Given the description of an element on the screen output the (x, y) to click on. 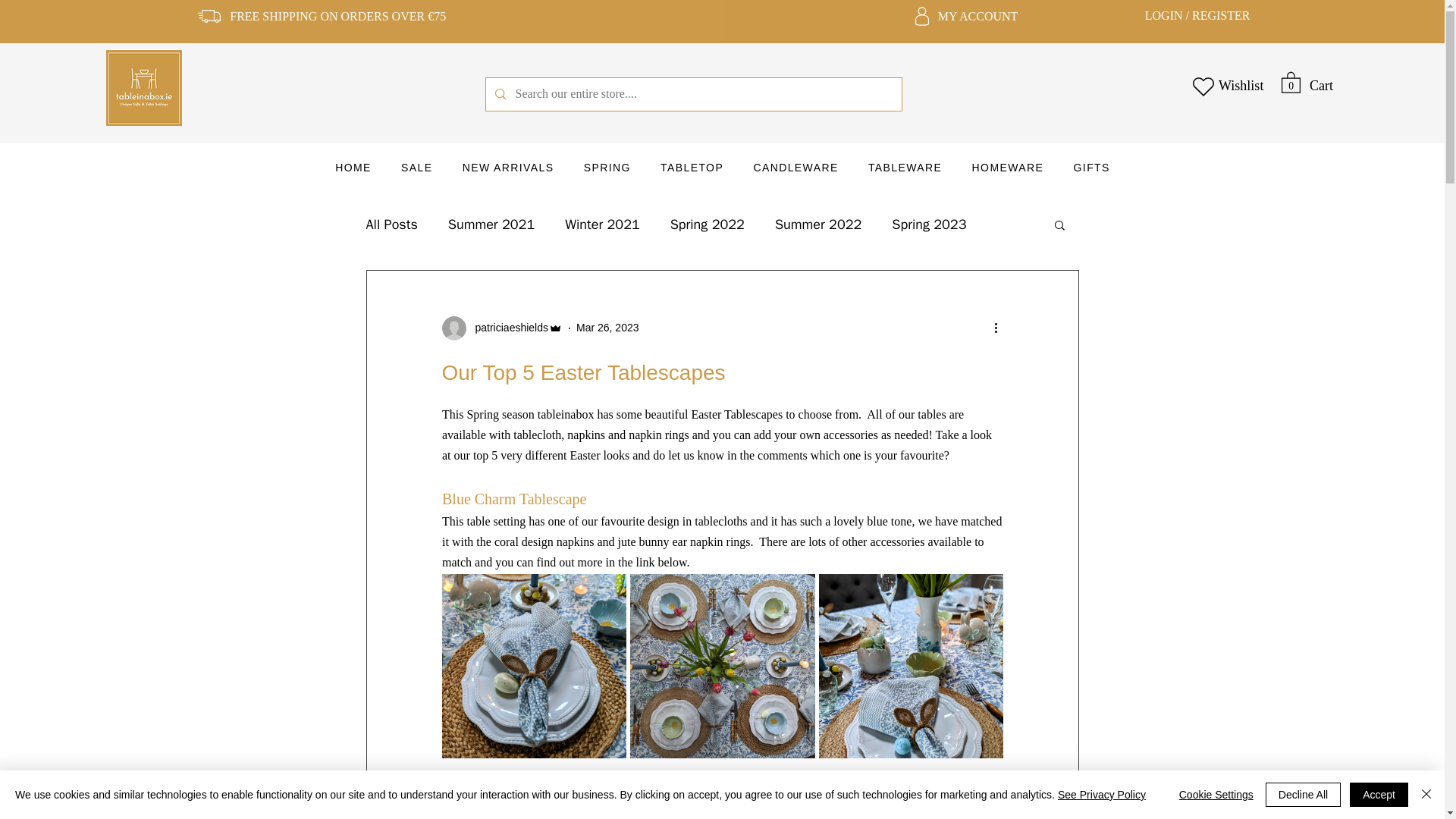
Mar 26, 2023 (607, 327)
Cart (1320, 85)
HOME (353, 167)
MY ACCOUNT (977, 15)
SALE (416, 167)
NEW ARRIVALS (507, 167)
patriciaeshields (506, 327)
SPRING (606, 167)
Wishlist (1240, 85)
